Given the description of an element on the screen output the (x, y) to click on. 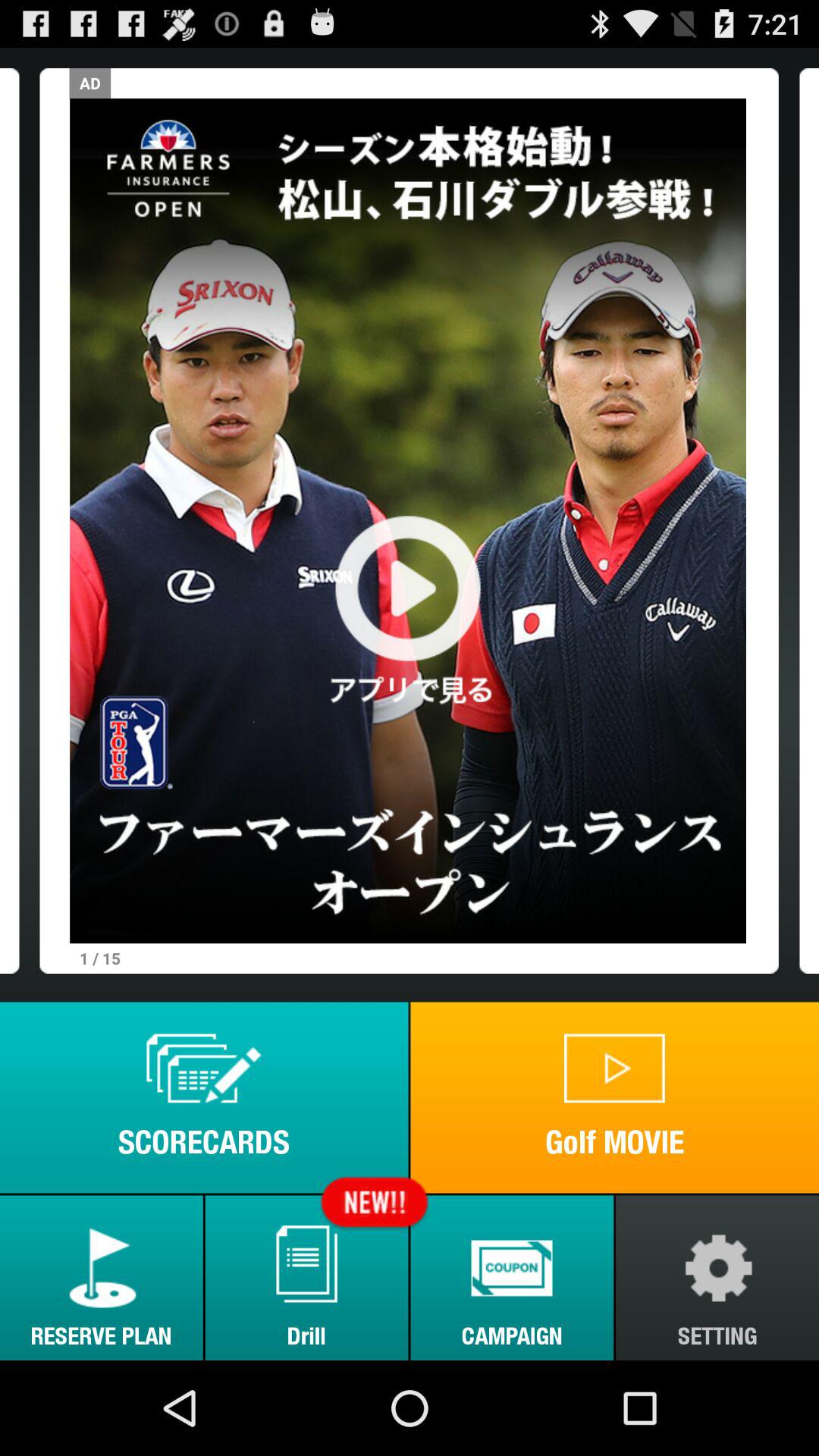
click the app below scorecards icon (101, 1277)
